Given the description of an element on the screen output the (x, y) to click on. 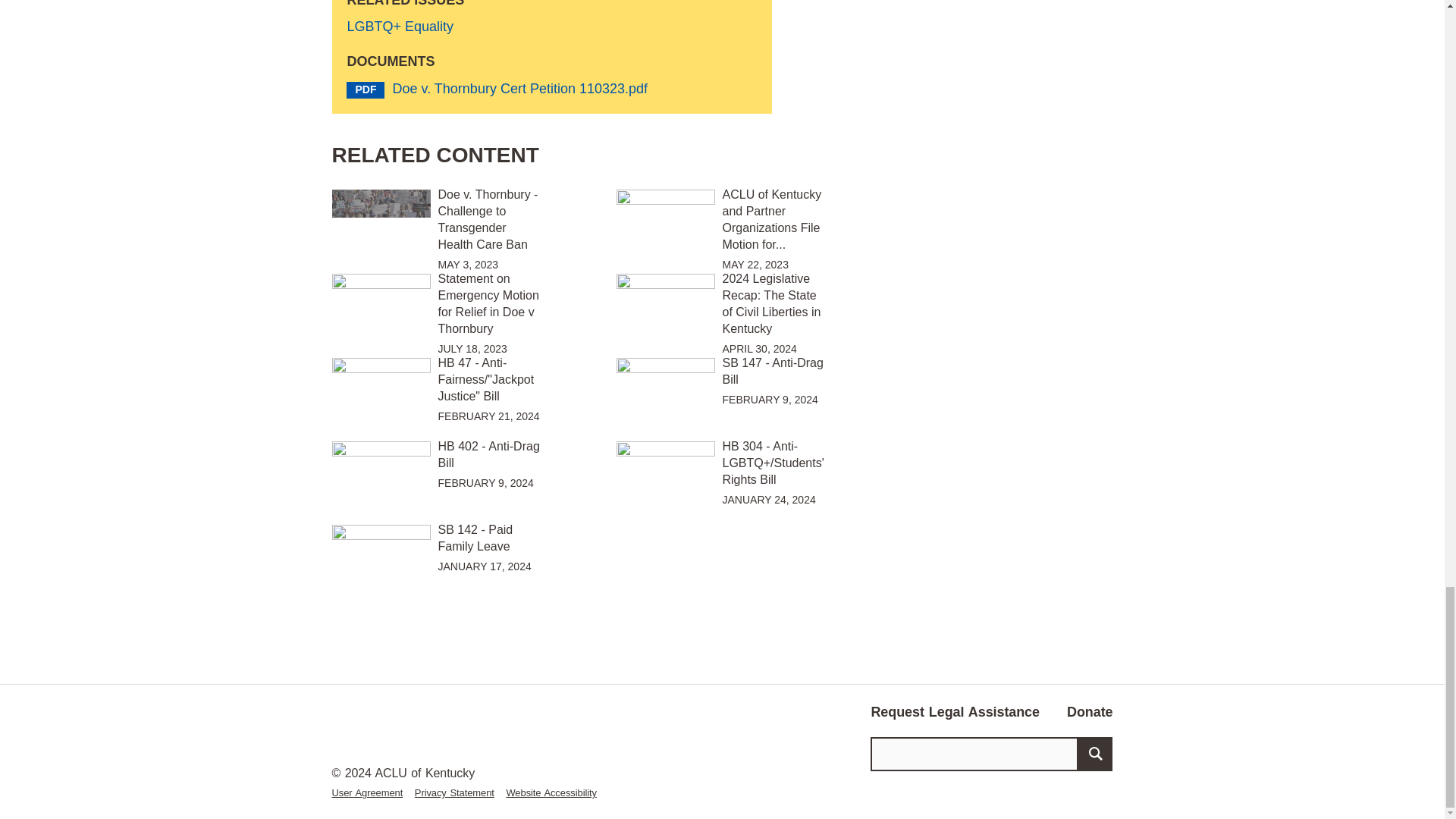
Search (1095, 754)
